Given the description of an element on the screen output the (x, y) to click on. 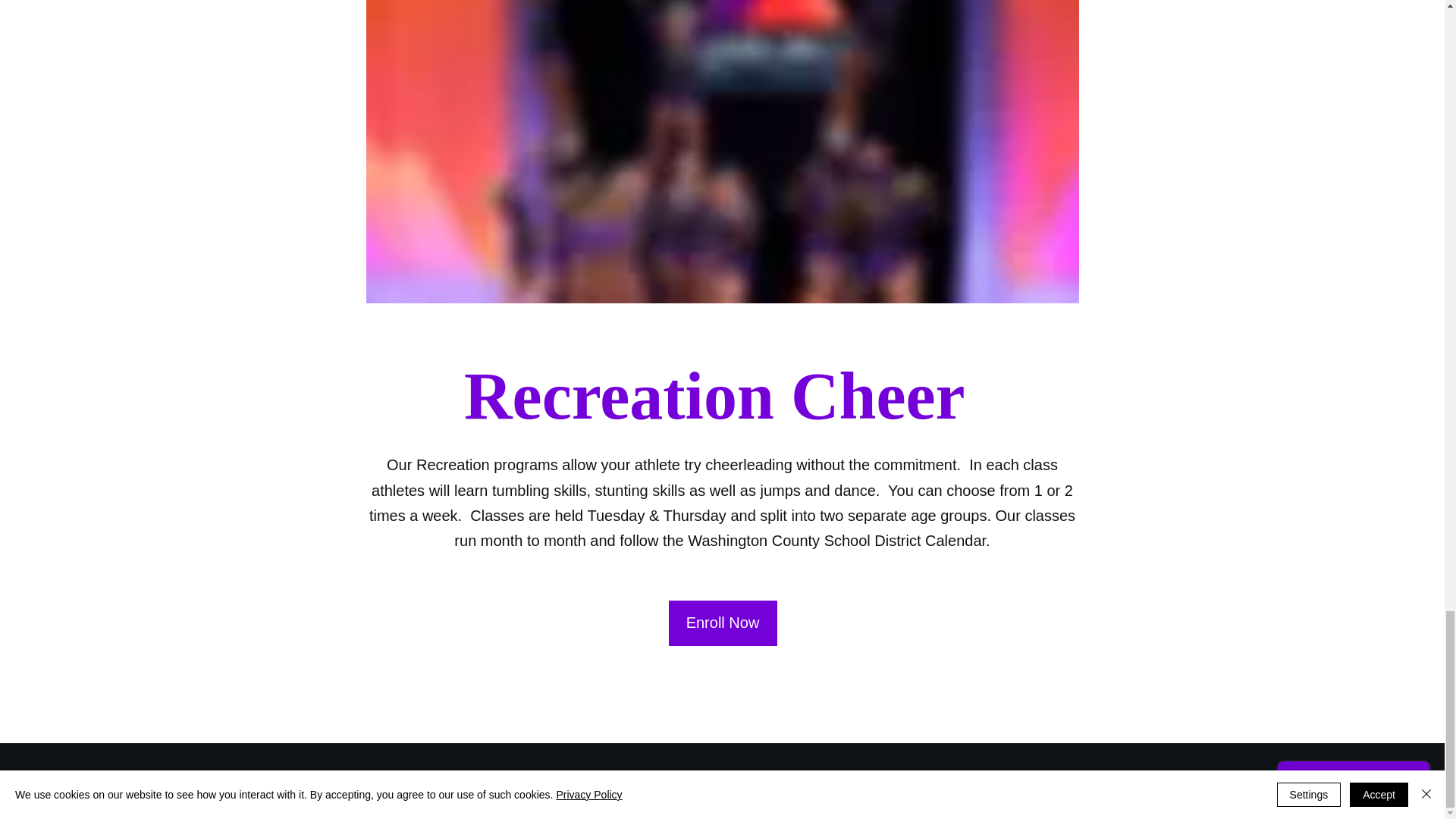
Enroll Now (722, 623)
